Given the description of an element on the screen output the (x, y) to click on. 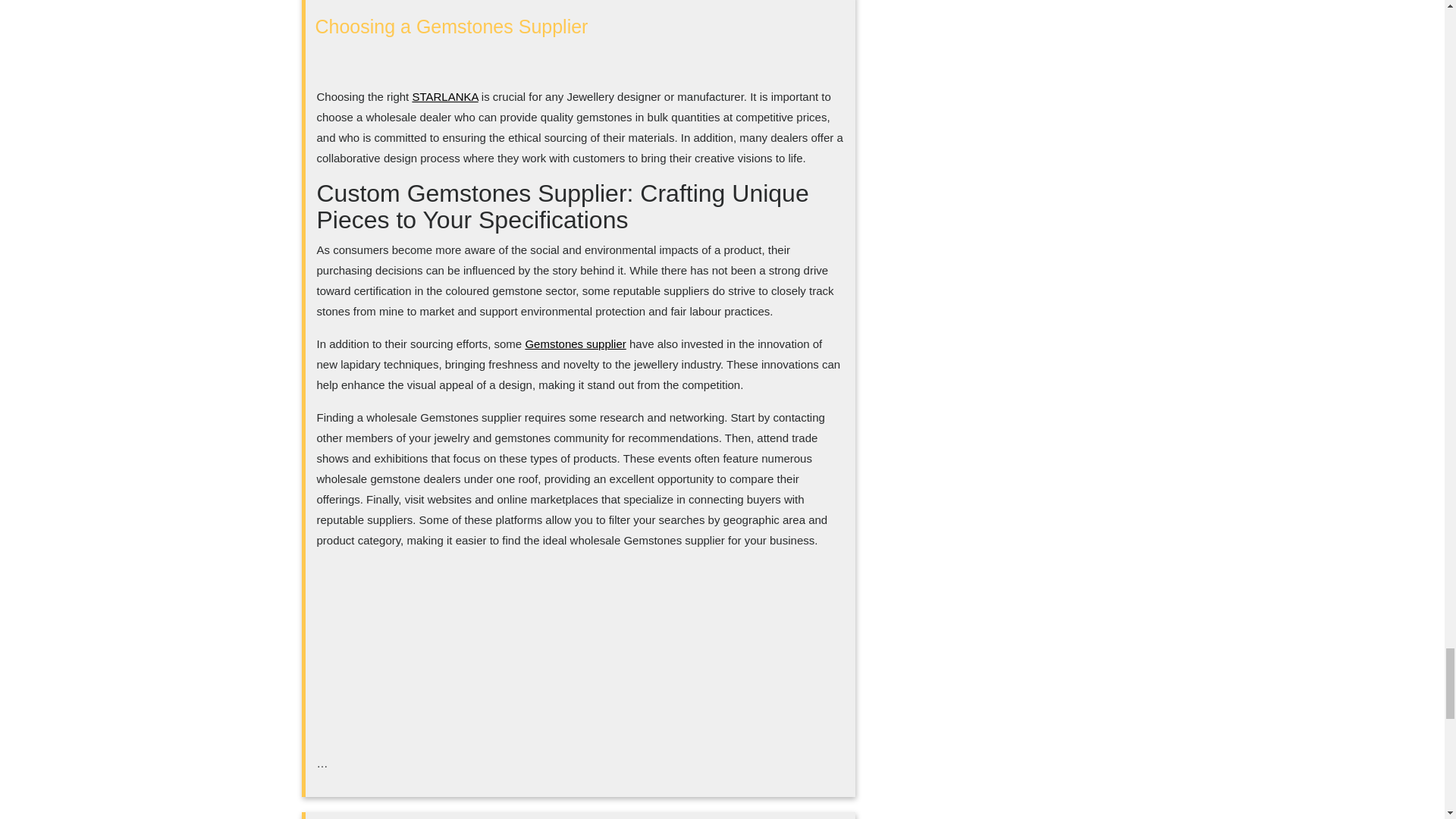
Gemstones supplier (575, 343)
Choosing a Gemstones Supplier (451, 25)
STARLANKA (444, 96)
